Given the description of an element on the screen output the (x, y) to click on. 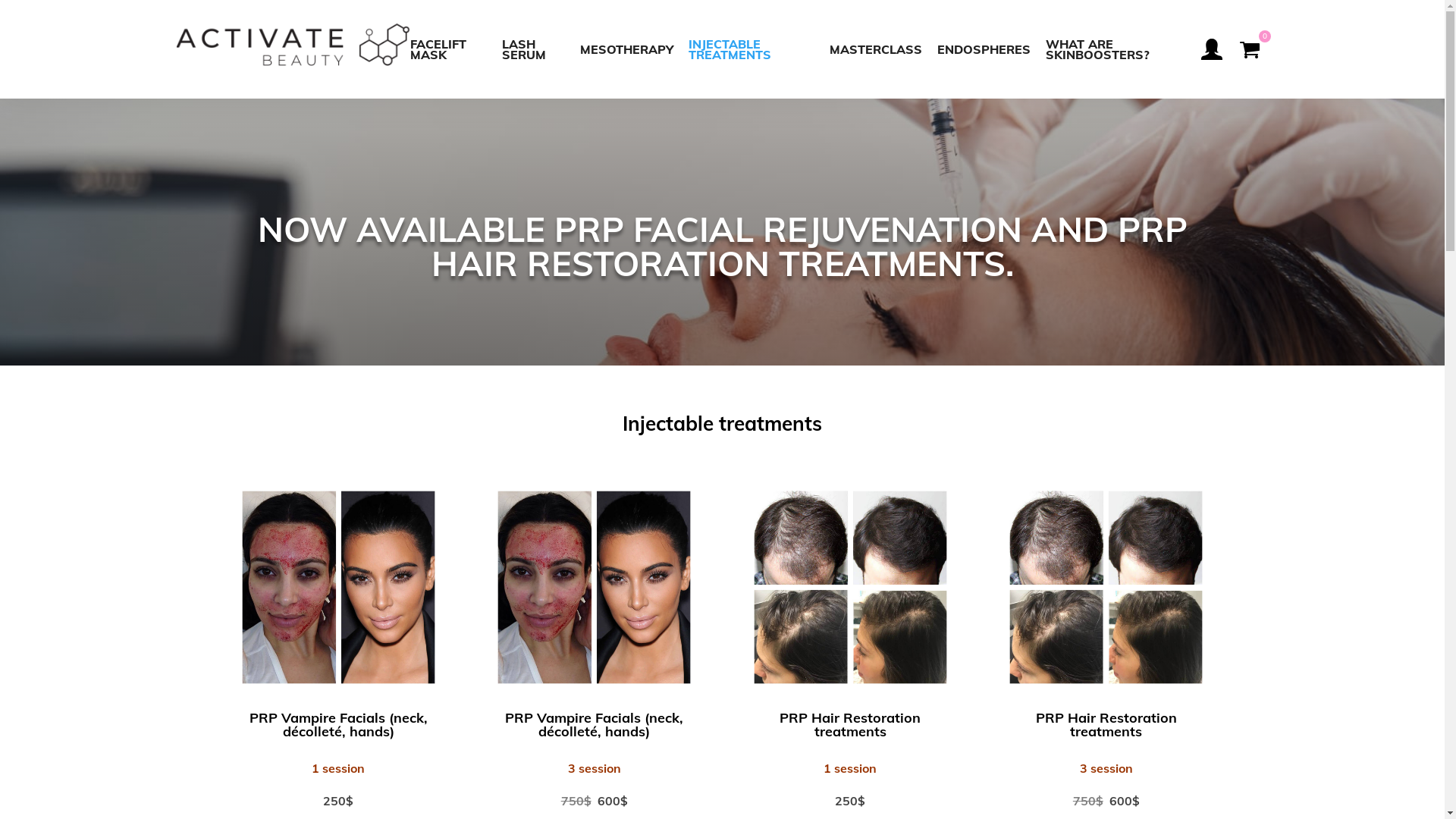
Injectable Treatments 3 Element type: hover (850, 587)
My account Element type: text (1211, 49)
FACELIFT MASK Element type: text (452, 48)
Injectable Treatments 1 Element type: hover (593, 587)
PRP Hair Restoration treatments Element type: text (1105, 724)
MASTERCLASS Element type: text (875, 48)
PRP Hair Restoration treatments Element type: text (849, 724)
Injectable Treatments 1 Element type: hover (337, 587)
WHAT ARE SKINBOOSTERS? Element type: text (1115, 48)
Injectable Treatments 3 Element type: hover (1105, 587)
MESOTHERAPY Element type: text (626, 48)
LASH SERUM Element type: text (533, 48)
0 Element type: text (1248, 49)
INJECTABLE TREATMENTS Element type: text (751, 48)
ENDOSPHERES Element type: text (983, 48)
